Given the description of an element on the screen output the (x, y) to click on. 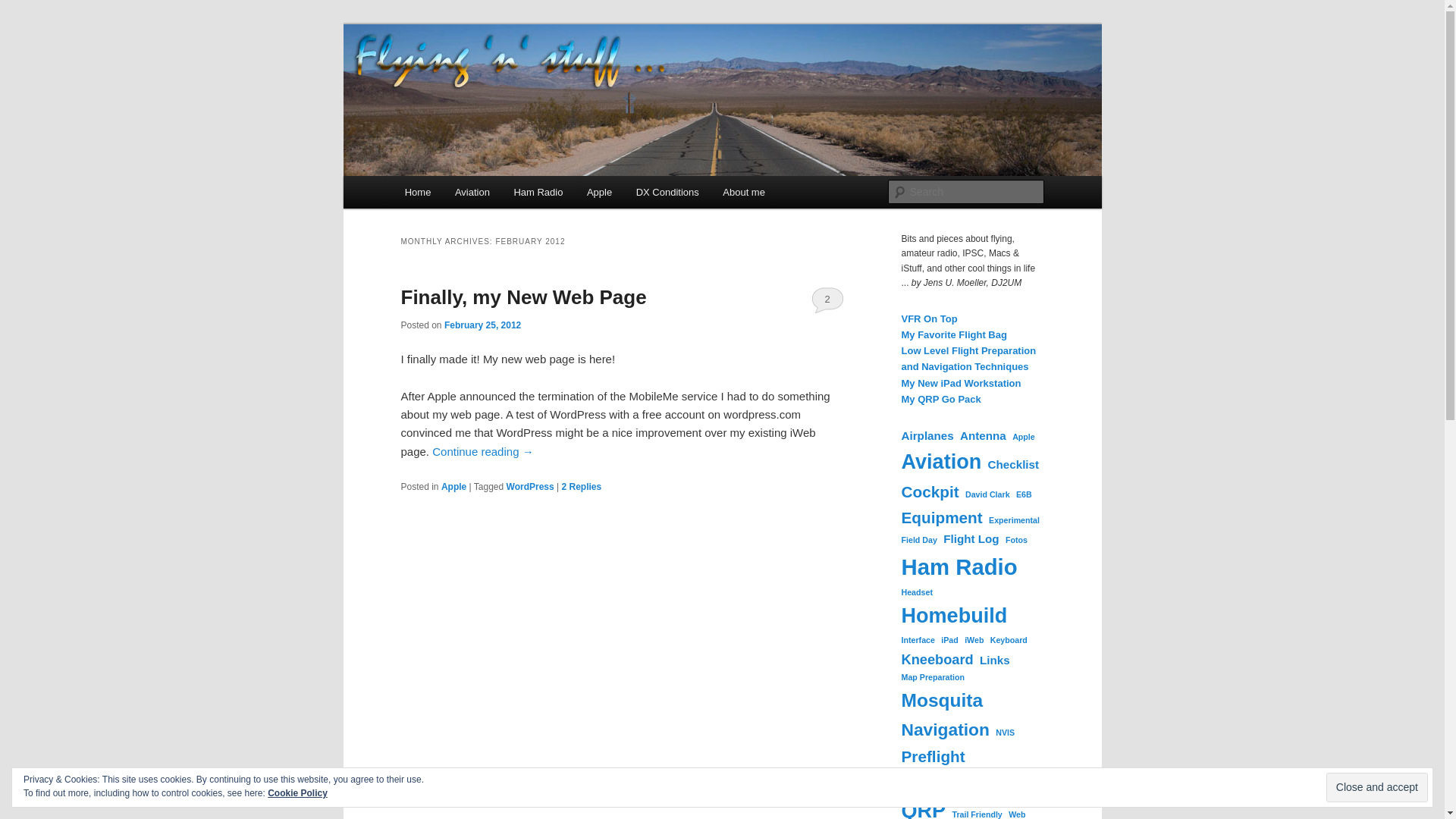
2 Replies (580, 485)
Cockpit (929, 492)
Homebuild (954, 616)
Aviation (472, 192)
Equipment (941, 517)
Field Day (918, 540)
Low Level Flight Preparation and Navigation Techniques (968, 358)
About me (744, 192)
Airplanes (927, 435)
Apple (453, 485)
Flying 'n' Stuff (478, 78)
Experimental (1013, 520)
Search (24, 8)
Fotos (1016, 540)
